Given the description of an element on the screen output the (x, y) to click on. 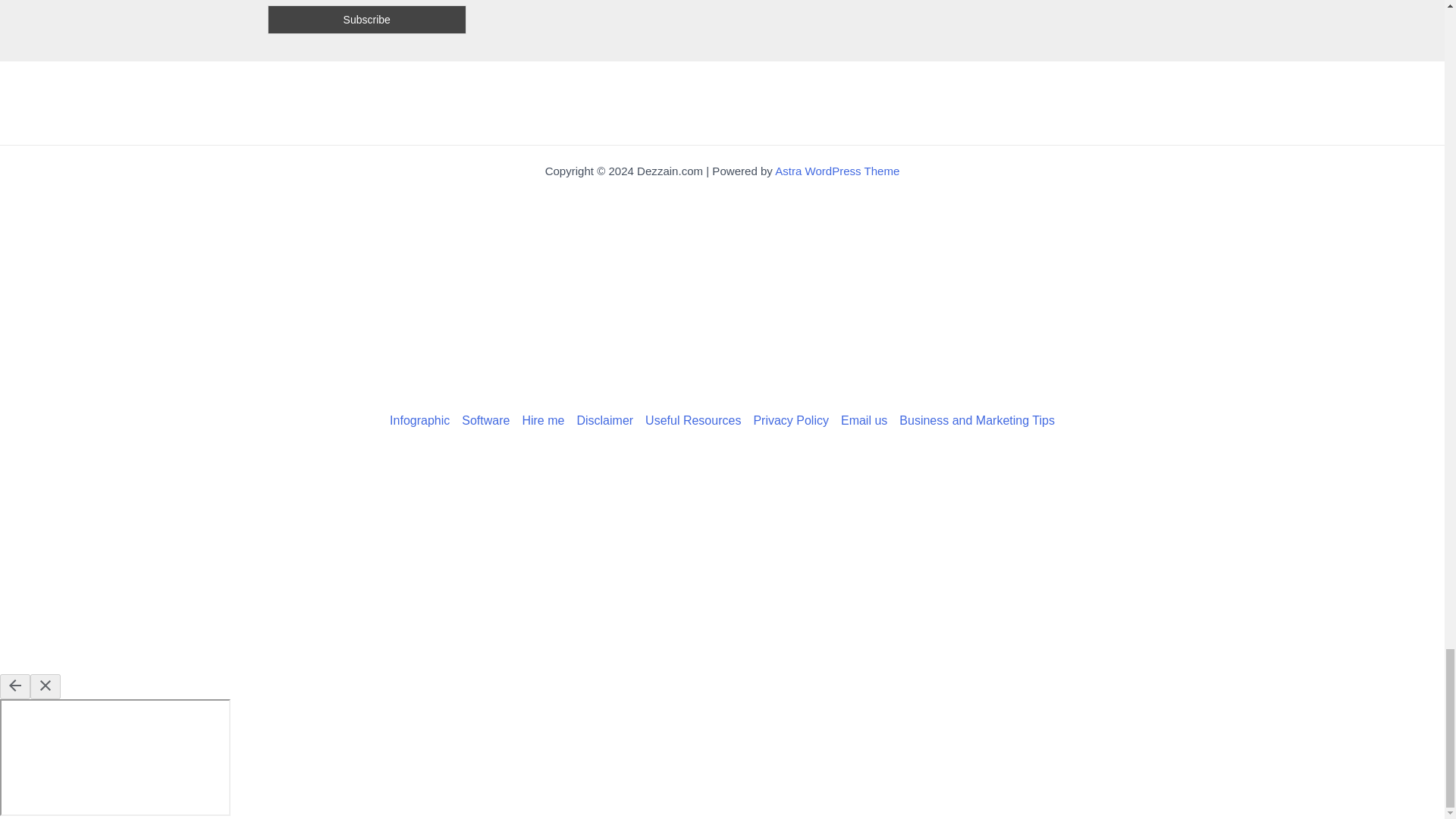
Subscribe (365, 19)
